Given the description of an element on the screen output the (x, y) to click on. 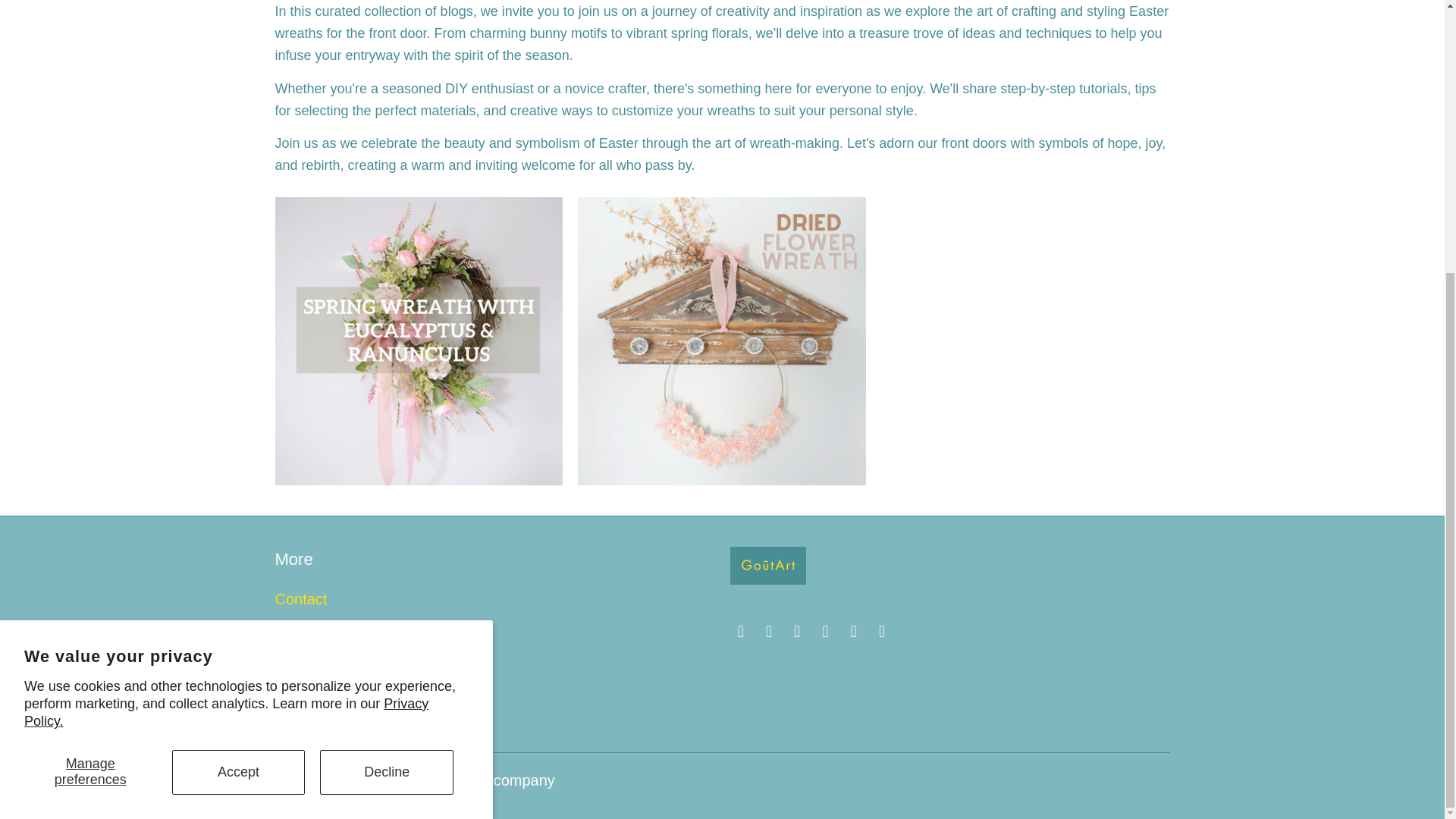
Privacy Policy. (226, 310)
Accept (238, 370)
Decline (386, 370)
Manage preferences (90, 370)
